Given the description of an element on the screen output the (x, y) to click on. 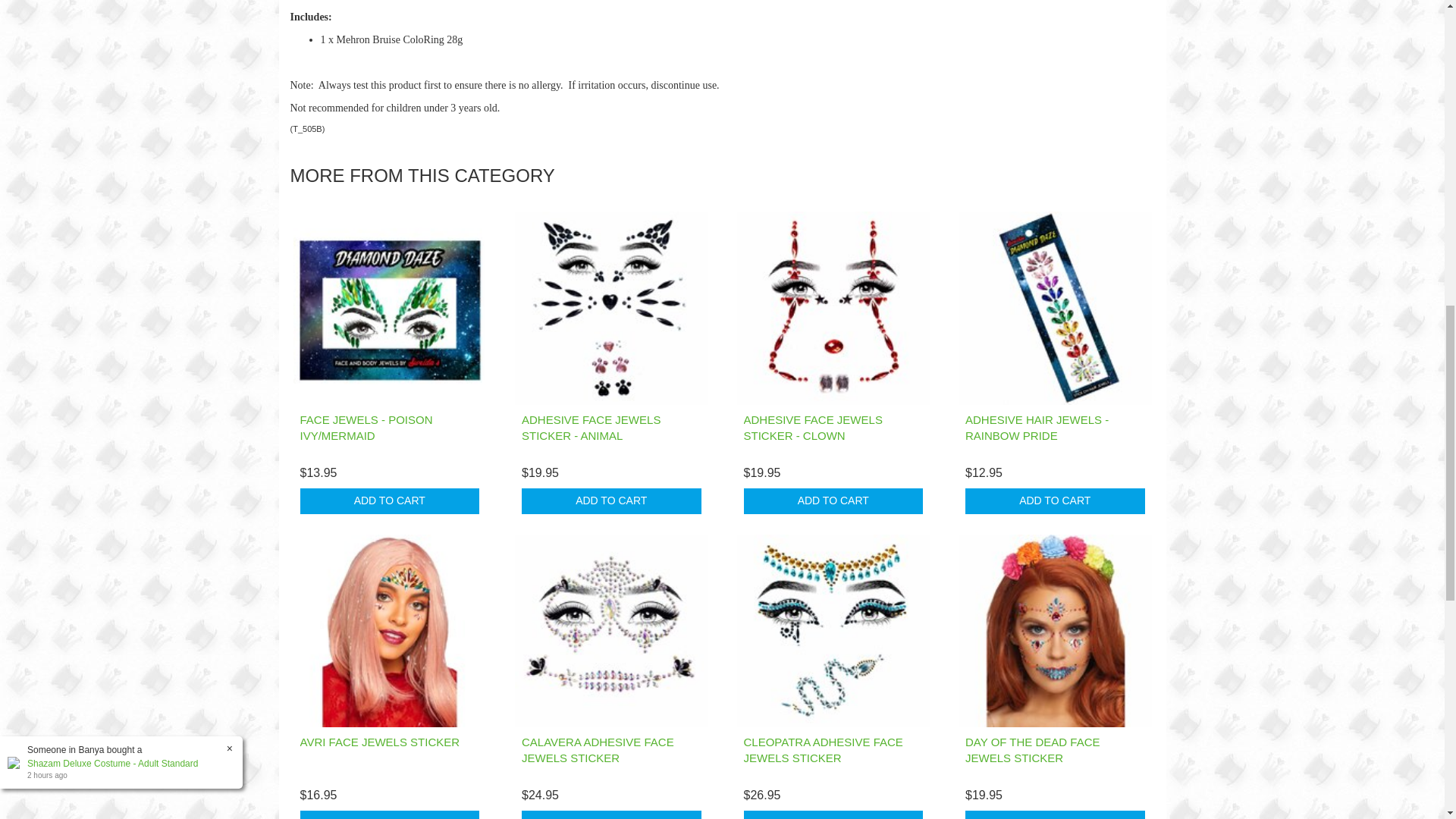
Add to Cart (611, 814)
Adhesive Face Jewels Sticker - Animal (591, 427)
Add to Cart (611, 501)
Add to Cart (1054, 814)
Avri Face Jewels Sticker (379, 741)
Day of the Dead Face Jewels Sticker (1032, 749)
Add to Cart (832, 501)
Cleopatra Adhesive Face Jewels Sticker (822, 749)
Add to Cart (1054, 501)
Add to Cart (389, 501)
Adhesive Face Jewels Sticker - Clown (812, 427)
Adhesive Hair Jewels - Rainbow Pride (1036, 427)
Add to Cart (389, 814)
Add to Cart (832, 814)
Calavera Adhesive Face Jewels Sticker (597, 749)
